Given the description of an element on the screen output the (x, y) to click on. 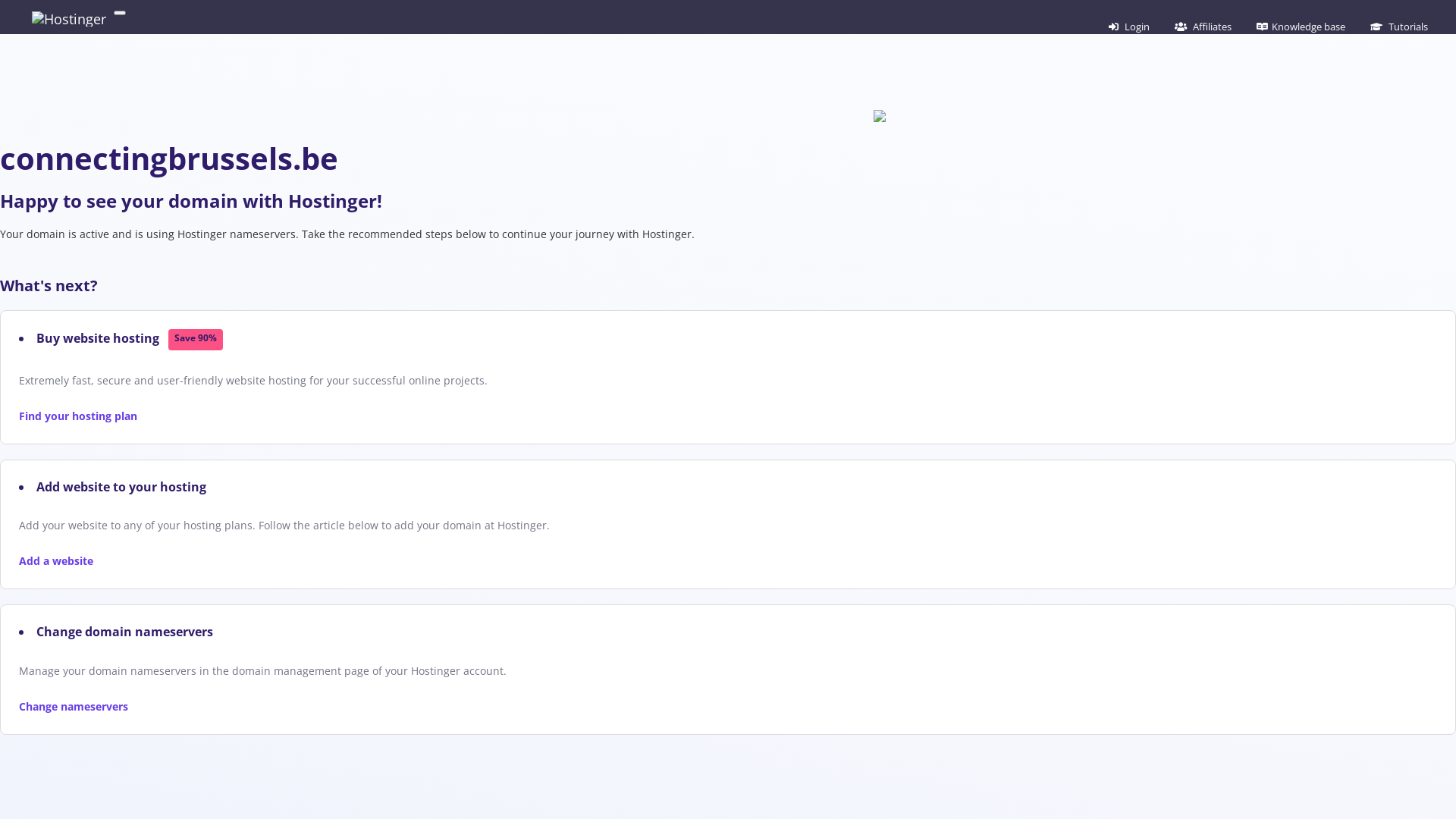
Login Element type: text (1128, 26)
Affiliates Element type: text (1202, 26)
Knowledge base Element type: text (1300, 26)
Change nameservers Element type: text (73, 706)
Tutorials Element type: text (1398, 26)
Find your hosting plan Element type: text (77, 415)
Add a website Element type: text (55, 560)
